Given the description of an element on the screen output the (x, y) to click on. 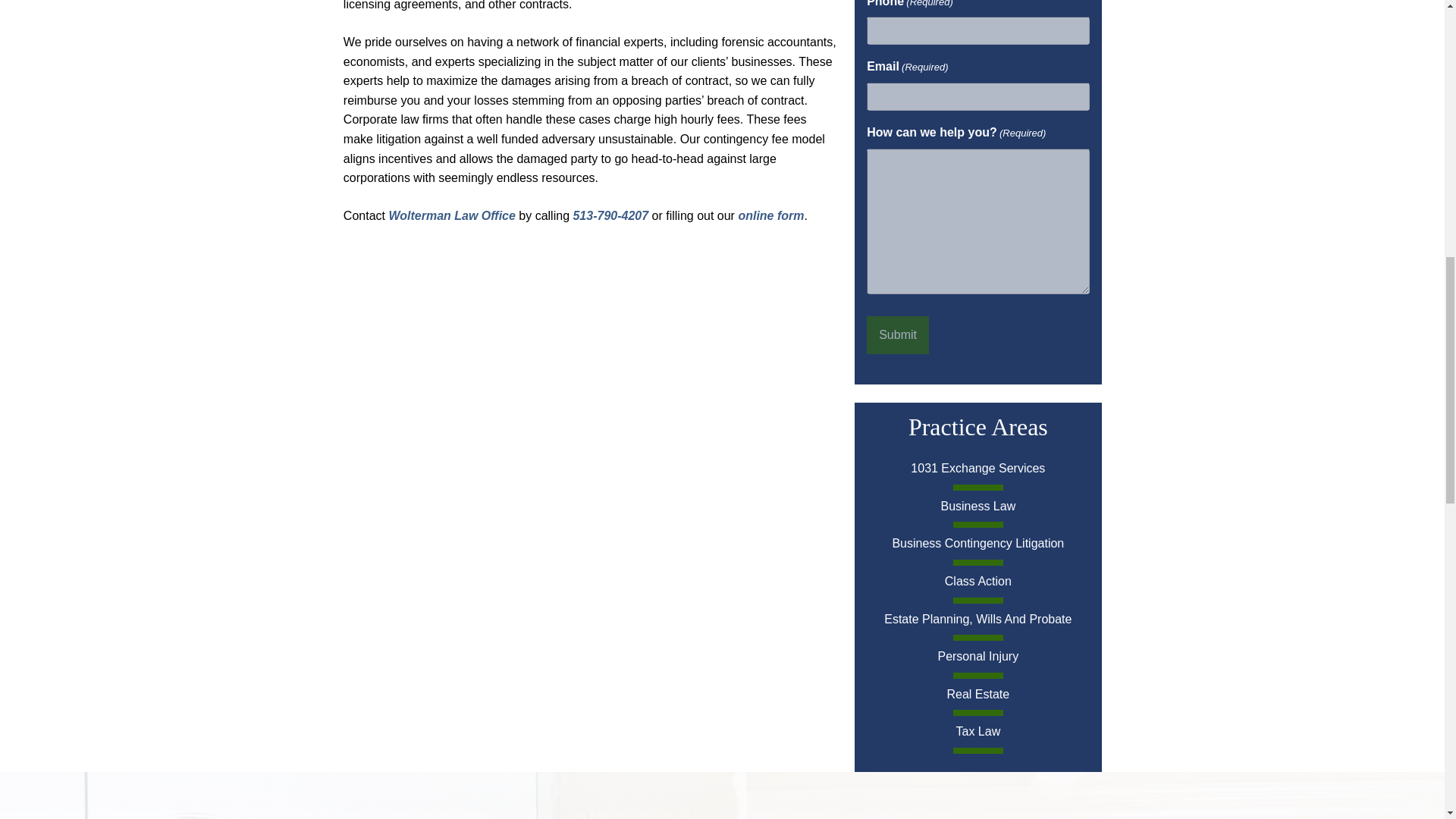
Submit (897, 334)
